Given the description of an element on the screen output the (x, y) to click on. 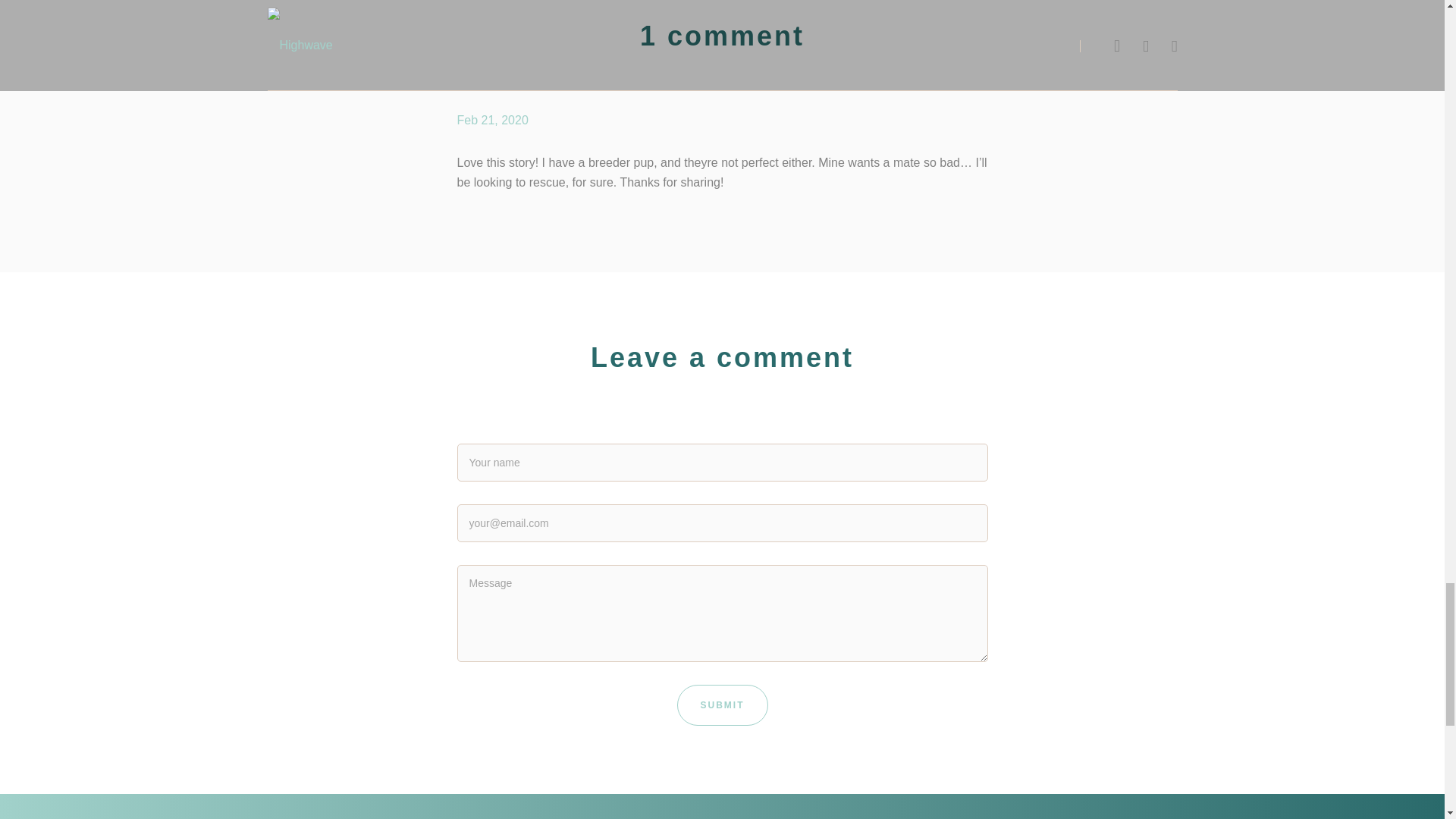
Feb 21, 2020 (492, 119)
Submit (722, 704)
Submit (722, 704)
